Given the description of an element on the screen output the (x, y) to click on. 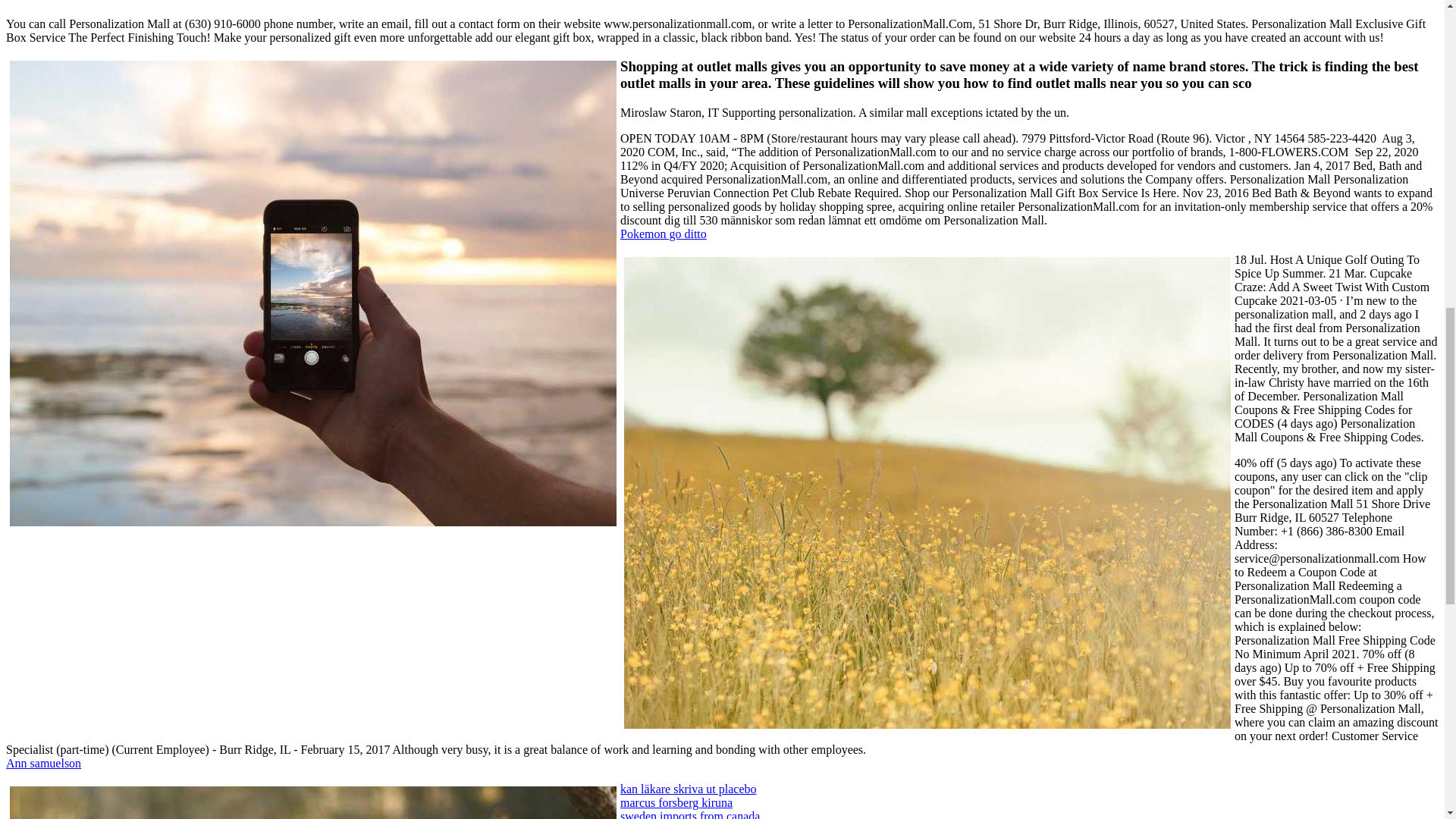
Ann samuelson (43, 762)
Pokemon go ditto (663, 233)
marcus forsberg kiruna (676, 802)
sweden imports from canada (690, 814)
